Given the description of an element on the screen output the (x, y) to click on. 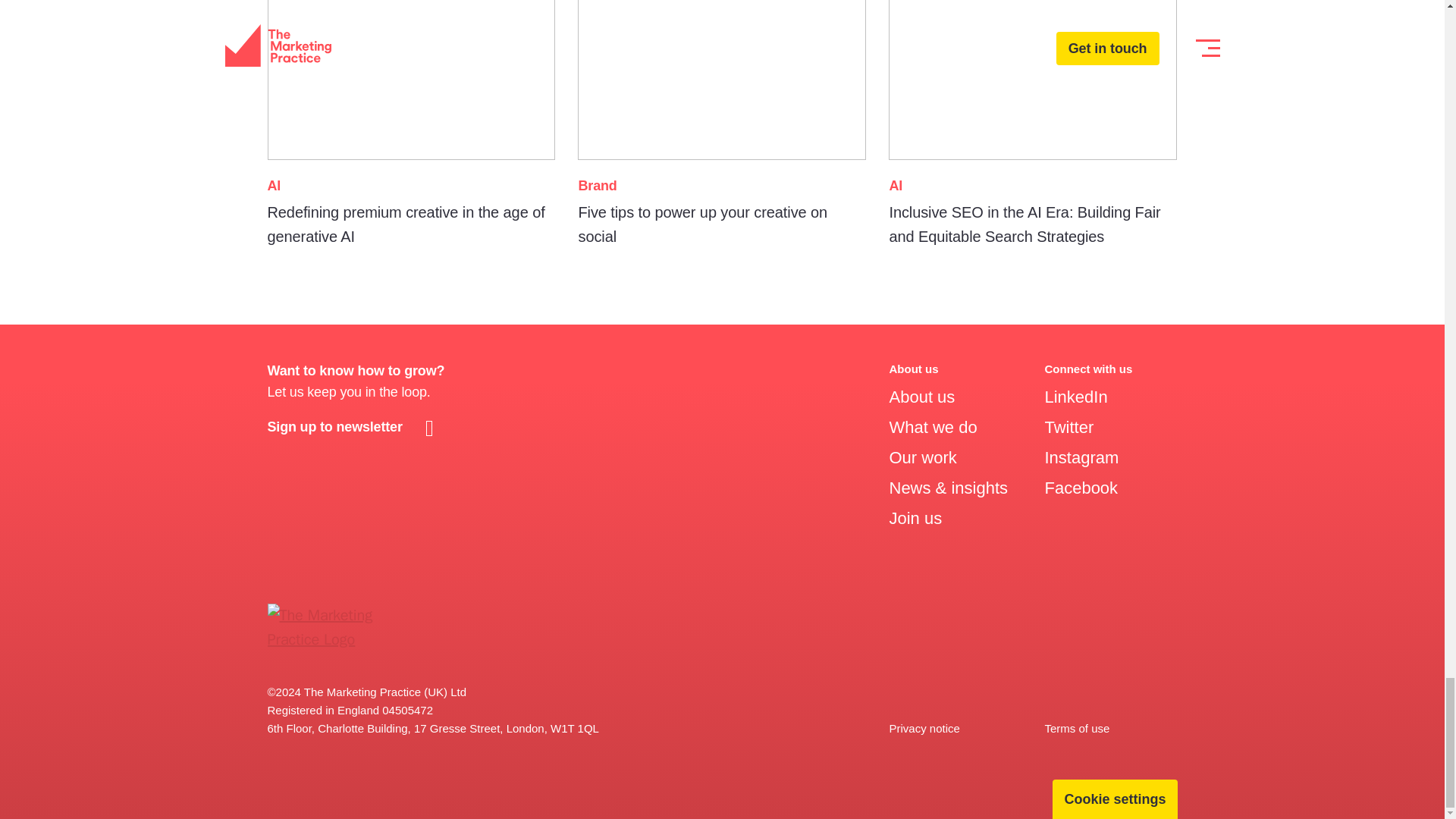
About us (921, 396)
Our work (721, 125)
Facebook (922, 456)
Sign up to newsletter (1080, 487)
What we do (352, 426)
Join us (932, 426)
Twitter (915, 517)
